Given the description of an element on the screen output the (x, y) to click on. 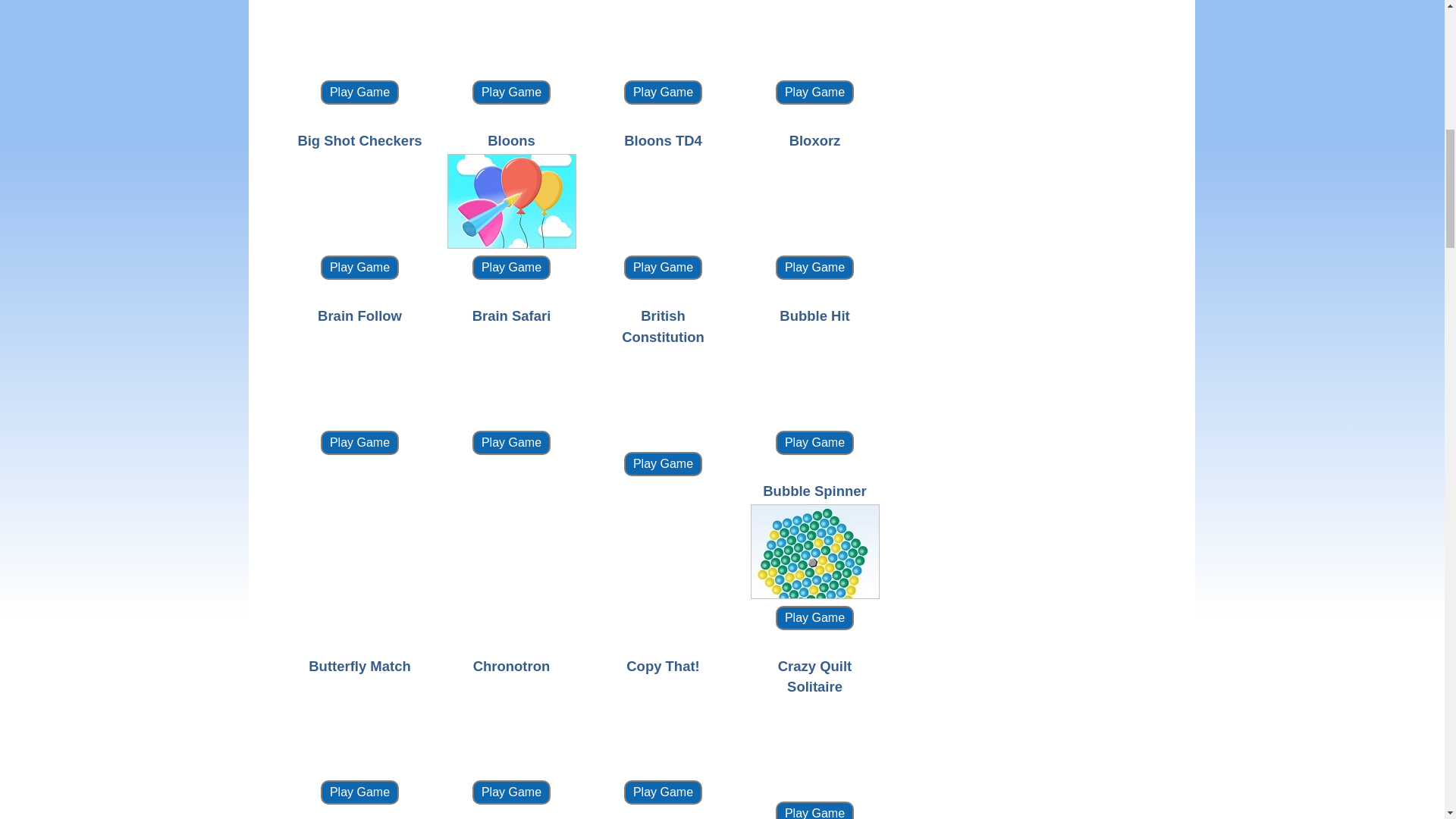
Turn on all the lights (360, 36)
Regular checkers with a fun twist (360, 200)
Concentration Game (511, 200)
Klondike Card Solitaire (663, 36)
Logic Puzzle - Figure out the pattern (511, 36)
Relaxing bubble popping concentration game (815, 376)
Memorize the Path - Creepy dungeon theme music (360, 376)
Three-of-a-kind Jewel Matching (815, 36)
